Given the description of an element on the screen output the (x, y) to click on. 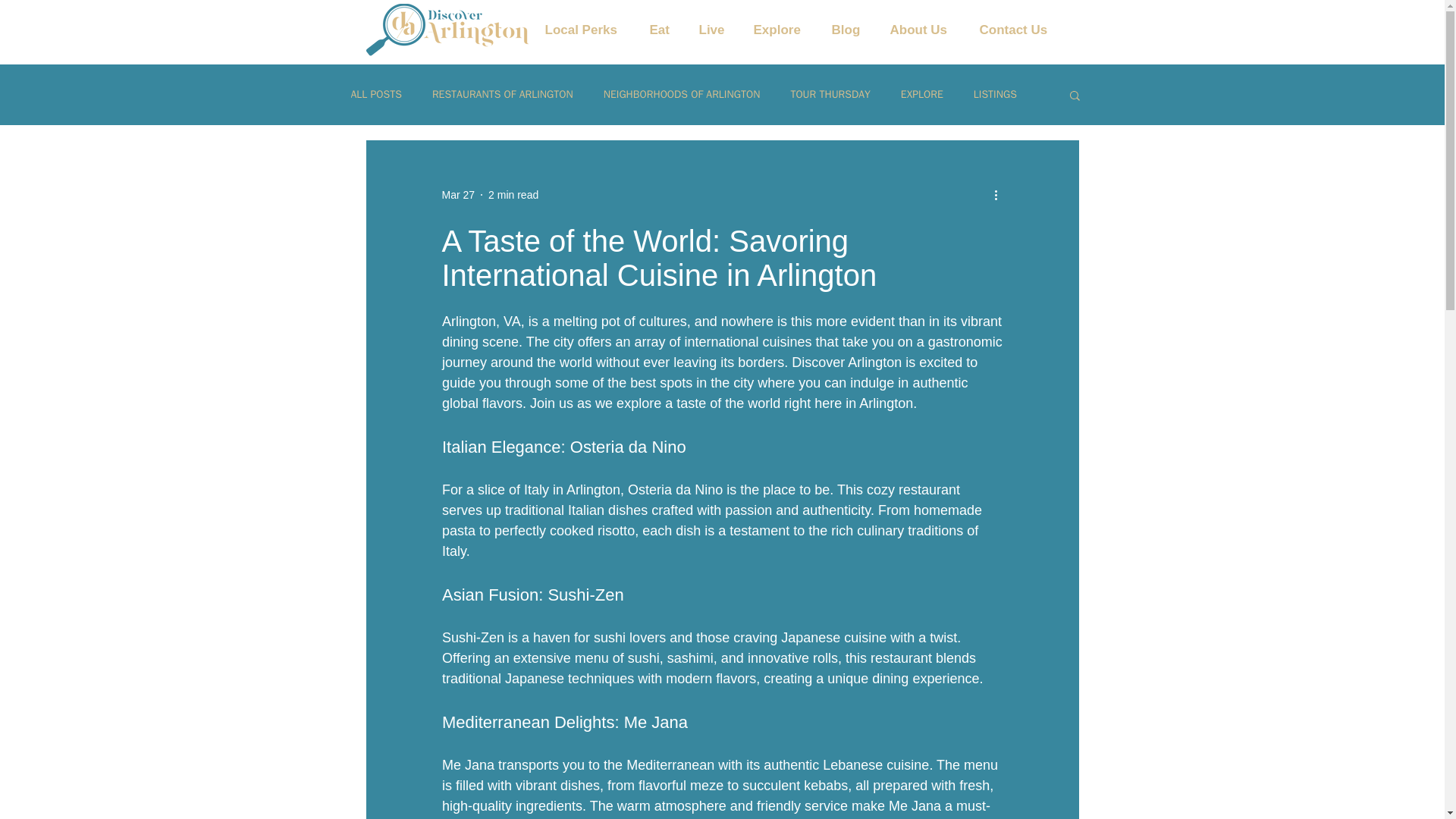
Local Perks (589, 30)
RESTAURANTS OF ARLINGTON (502, 94)
Blog (853, 30)
NEIGHBORHOODS OF ARLINGTON (682, 94)
ALL POSTS (375, 94)
Explore (784, 30)
LISTINGS (995, 94)
Mar 27 (457, 193)
Eat (666, 30)
Contact Us (1021, 30)
